Given the description of an element on the screen output the (x, y) to click on. 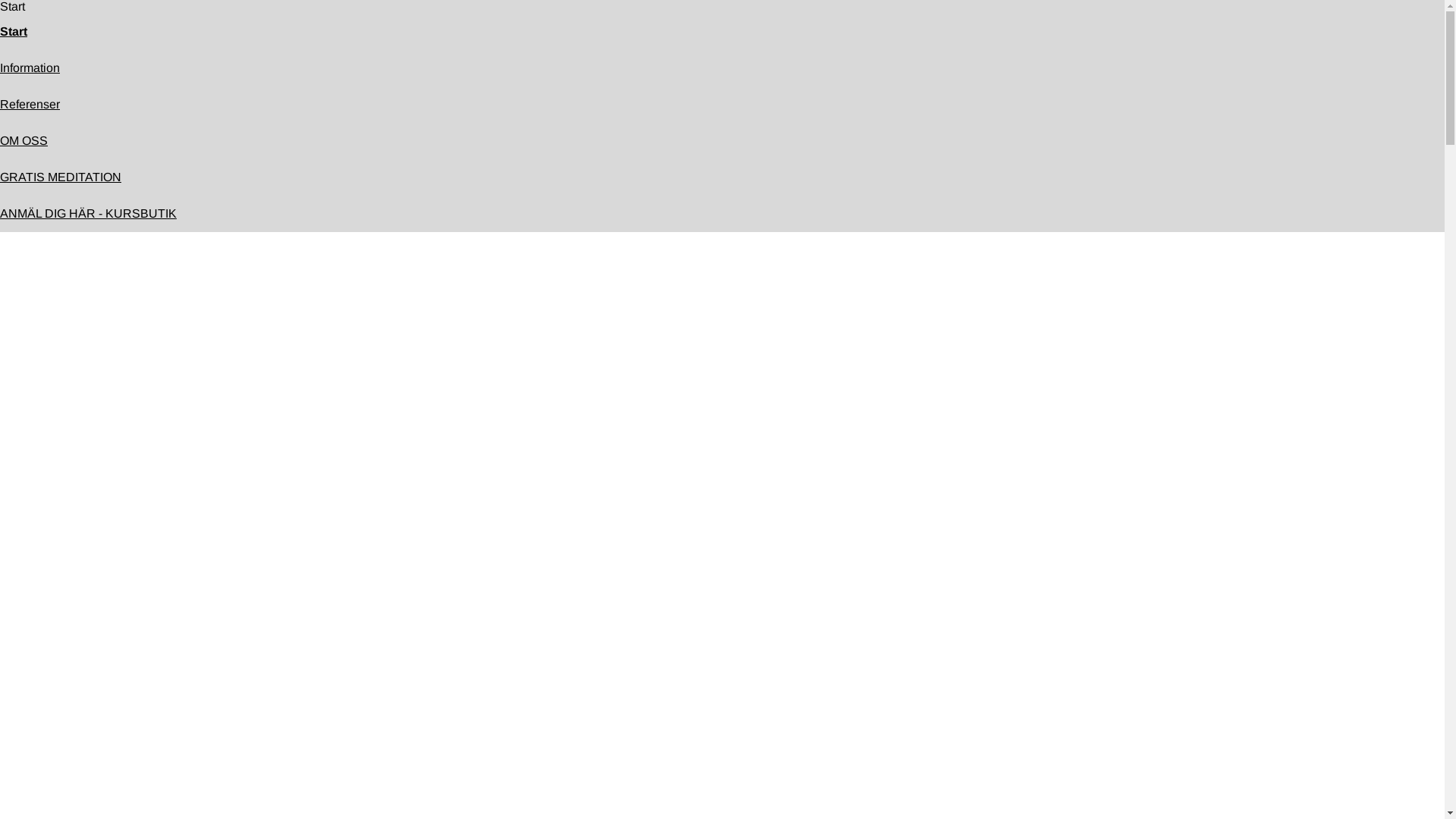
Start Element type: text (13, 31)
OM OSS Element type: text (23, 140)
Information Element type: text (29, 67)
GRATIS MEDITATION Element type: text (60, 176)
Referenser Element type: text (29, 103)
